Given the description of an element on the screen output the (x, y) to click on. 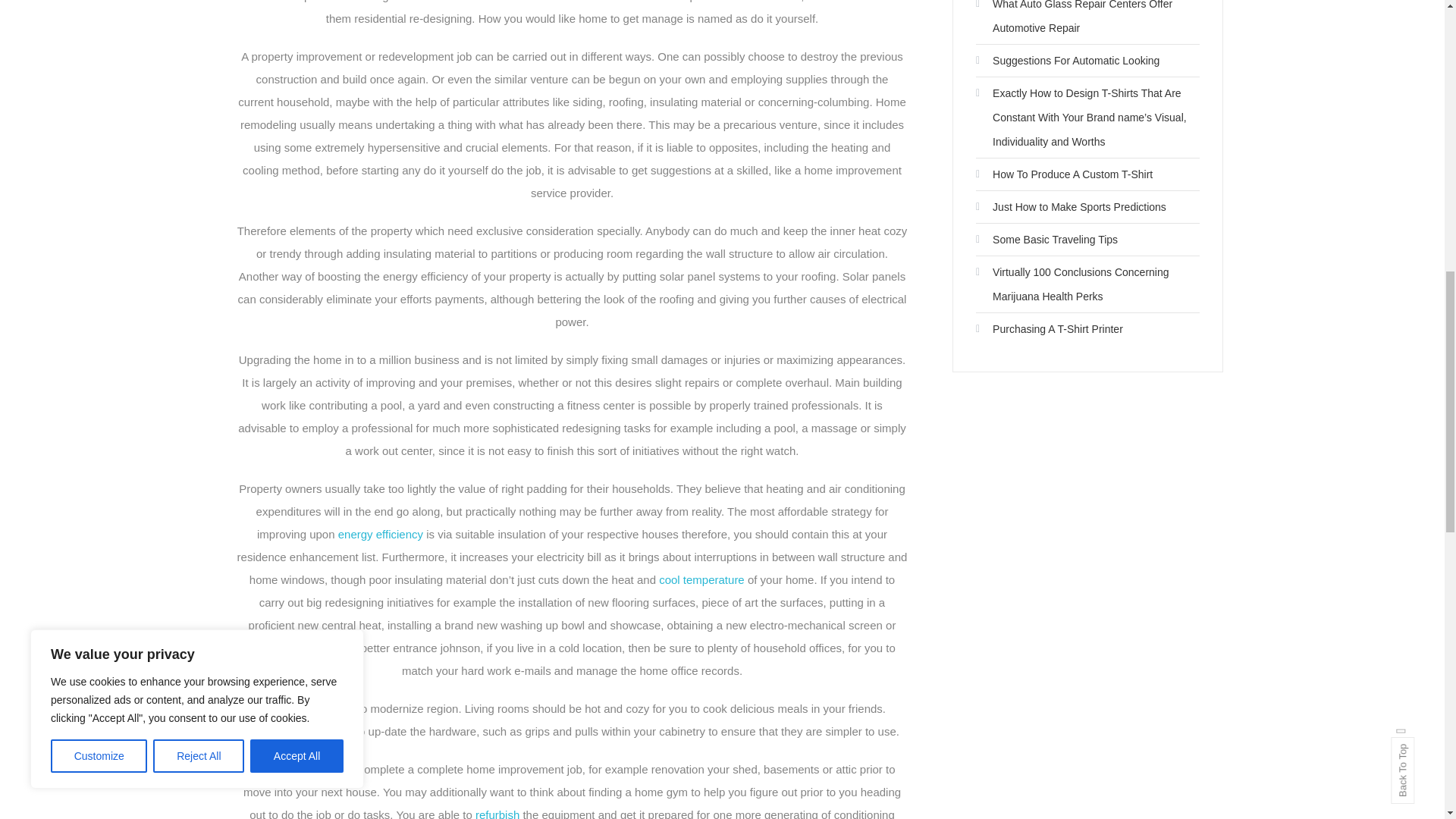
energy efficiency (380, 533)
refurbish (497, 813)
cool temperature (701, 579)
